Given the description of an element on the screen output the (x, y) to click on. 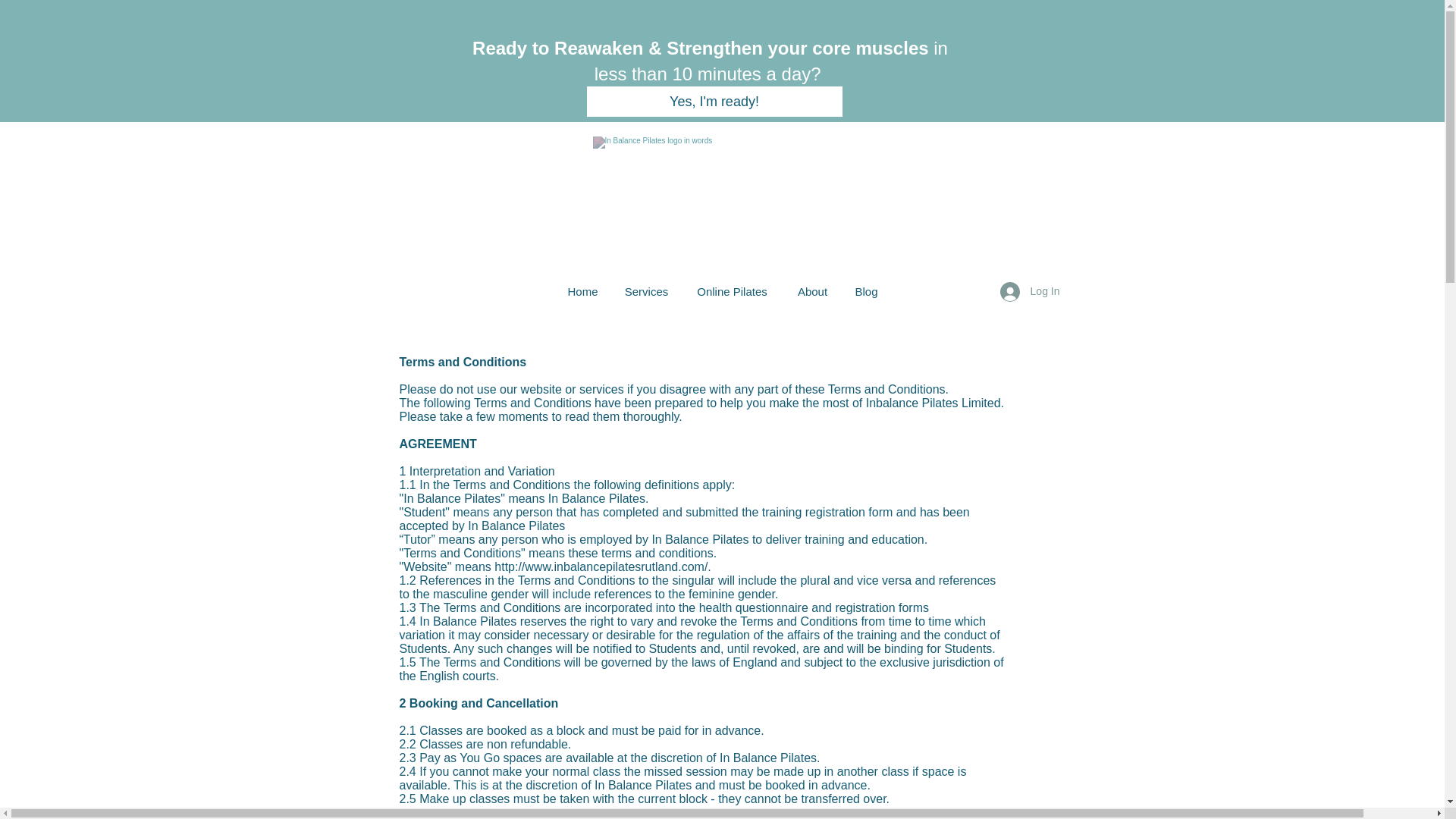
Log In (1030, 291)
Yes, I'm ready! (714, 101)
